Given the description of an element on the screen output the (x, y) to click on. 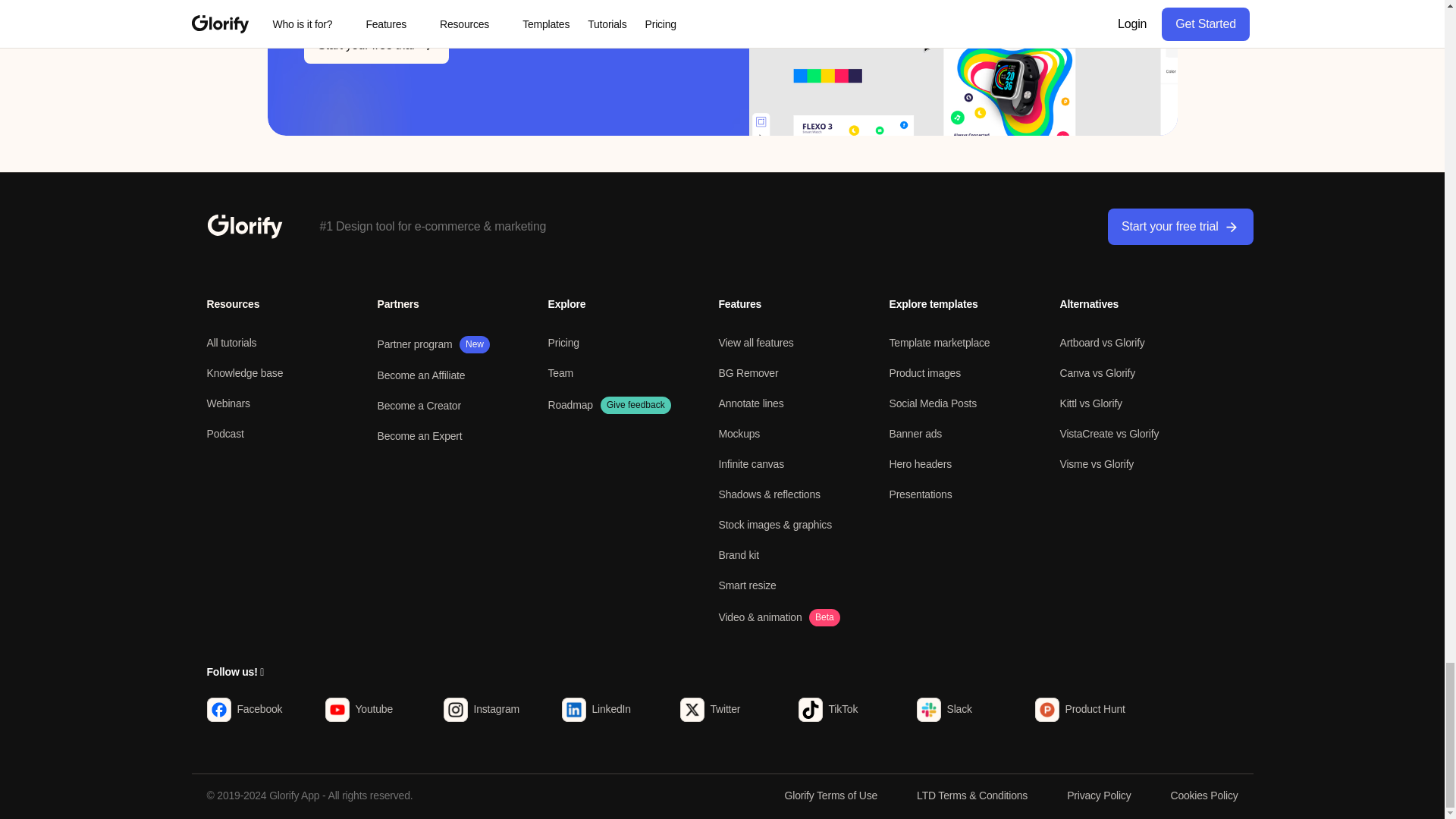
New (474, 343)
Pricing (562, 342)
Partner program (414, 344)
BG Remover (748, 372)
Roadmap (569, 404)
View all features (756, 342)
Brand kit (738, 554)
Start your free trial (1180, 226)
Become a Creator (419, 405)
Mockups (739, 433)
